Given the description of an element on the screen output the (x, y) to click on. 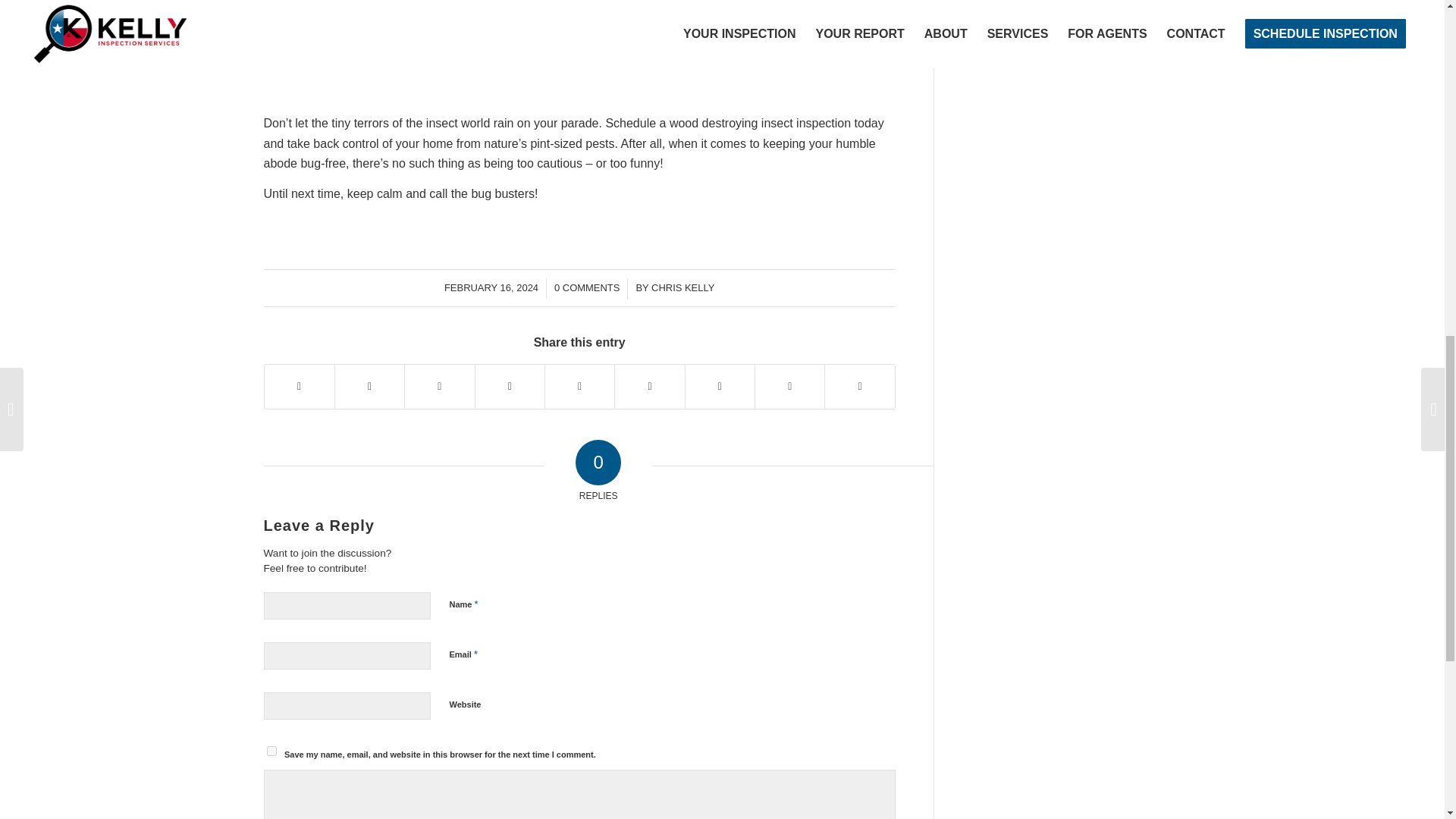
Posts by Chris Kelly (682, 287)
CHRIS KELLY (682, 287)
0 COMMENTS (587, 287)
yes (271, 750)
